Given the description of an element on the screen output the (x, y) to click on. 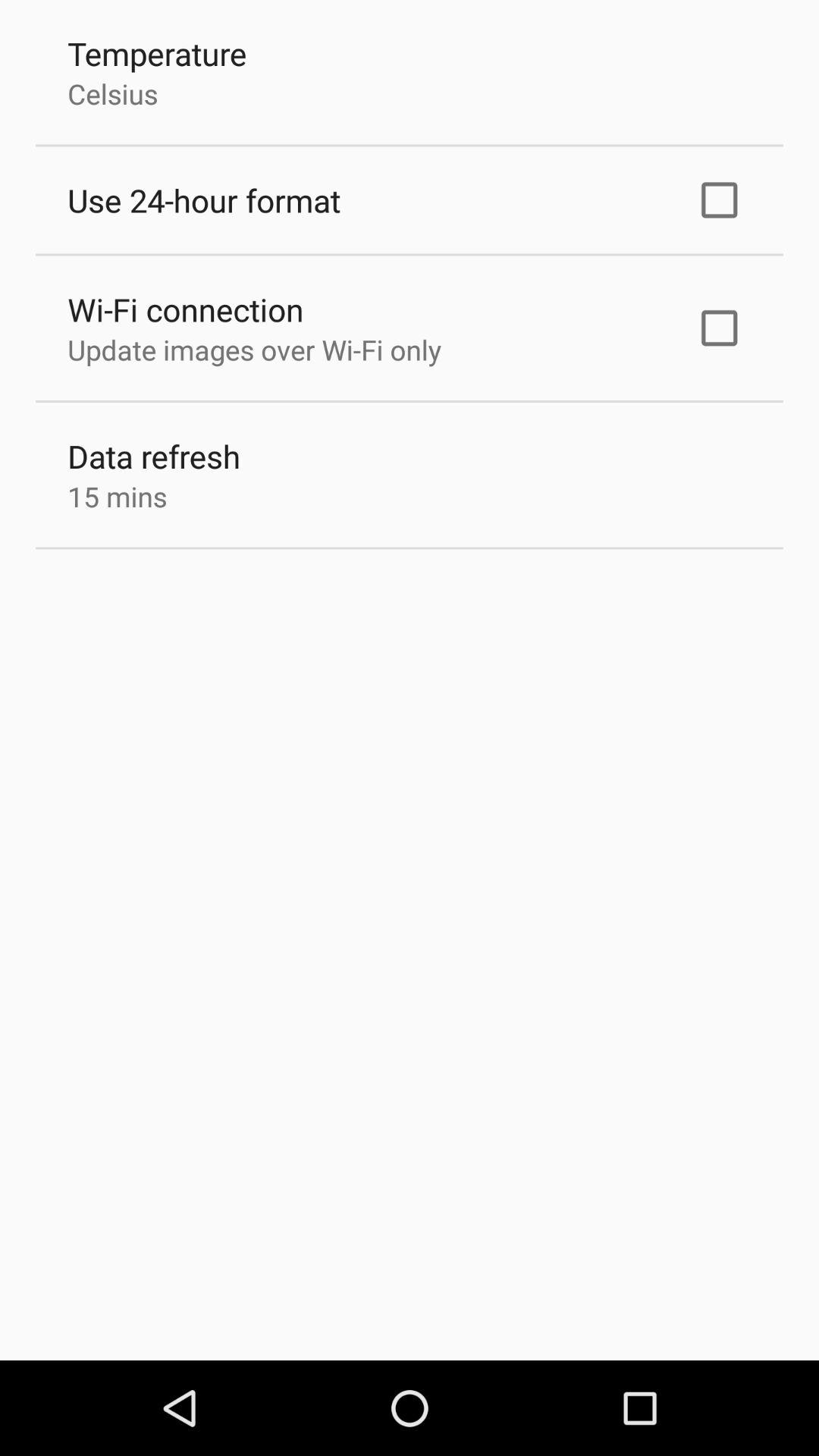
swipe until the temperature app (156, 53)
